Given the description of an element on the screen output the (x, y) to click on. 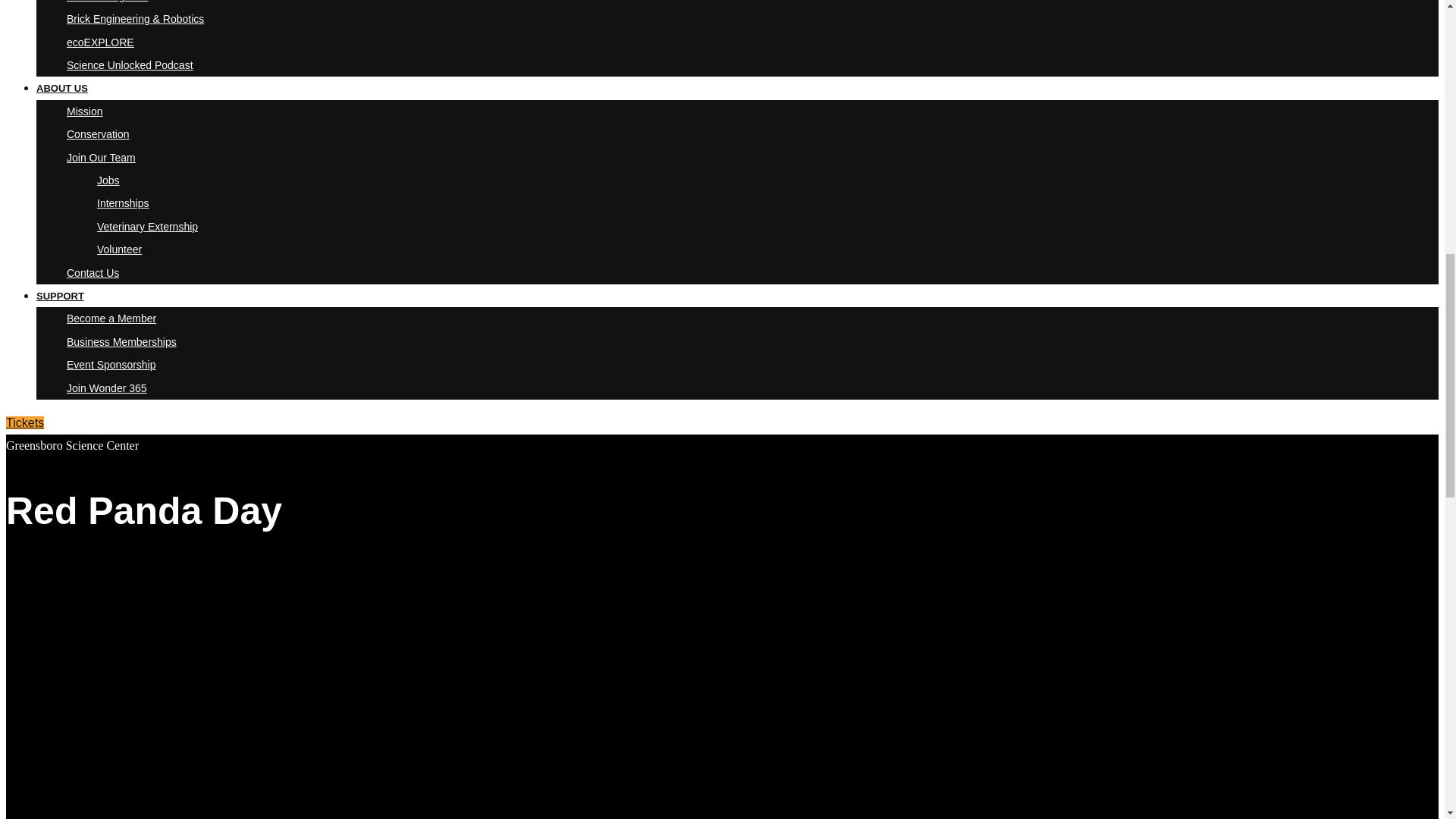
Science Unlocked Podcast (129, 64)
ABOUT US (61, 88)
Mission (83, 111)
ecoEXPLORE (99, 42)
School Programs (107, 1)
